Given the description of an element on the screen output the (x, y) to click on. 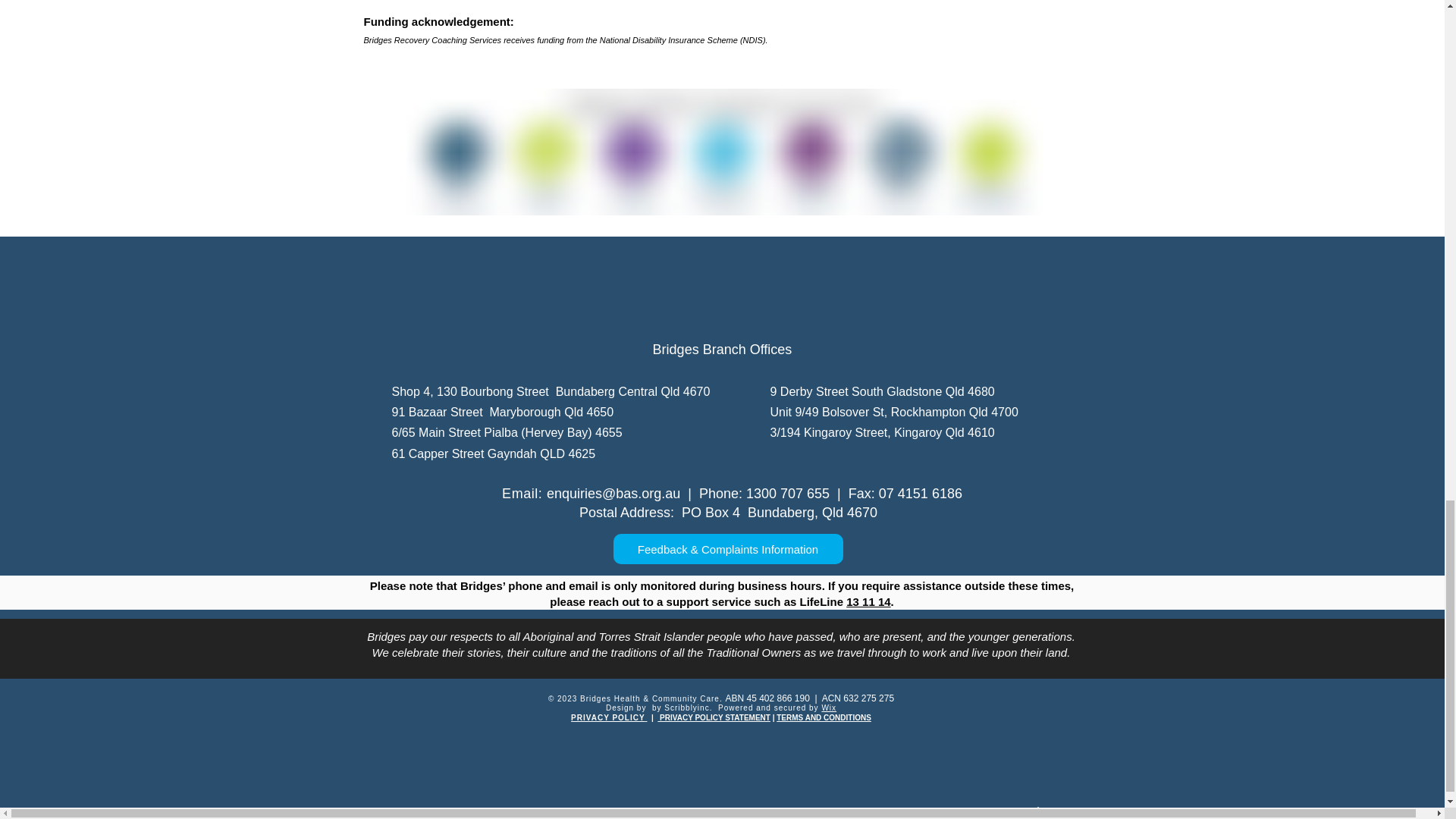
Bridges portfolio of programs and servic (721, 151)
13 11 14 (867, 601)
PRIVACY POLICY  (608, 717)
 PRIVACY POLICY STATEMENT (714, 717)
TERMS AND CONDITIONS (823, 717)
Wix (828, 707)
